Given the description of an element on the screen output the (x, y) to click on. 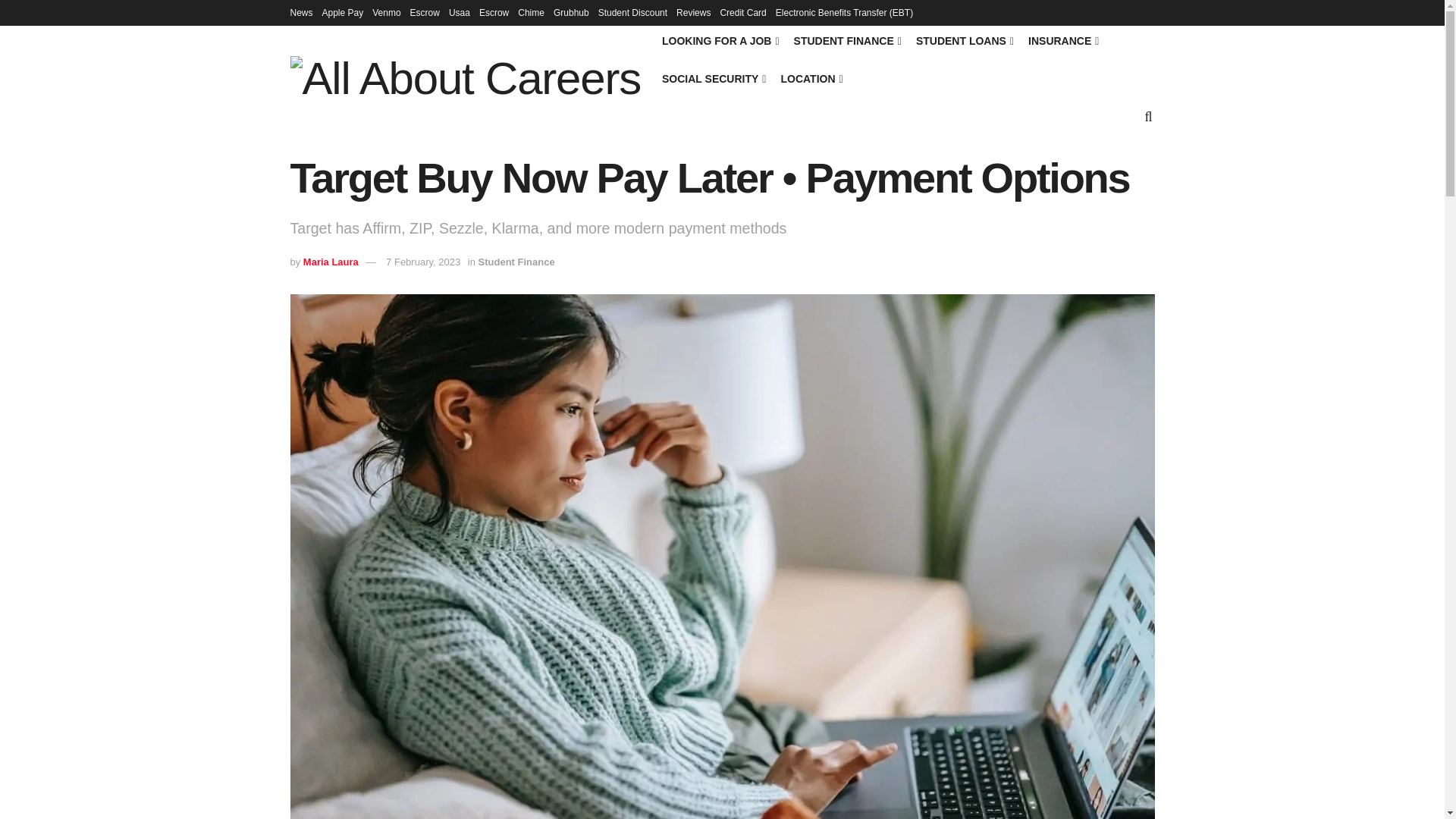
Apple Pay (342, 12)
Grubhub (571, 12)
Reviews (693, 12)
Student Discount (632, 12)
STUDENT FINANCE (846, 40)
Escrow (493, 12)
Venmo (386, 12)
Chime (531, 12)
LOOKING FOR A JOB (719, 40)
Escrow (424, 12)
